Given the description of an element on the screen output the (x, y) to click on. 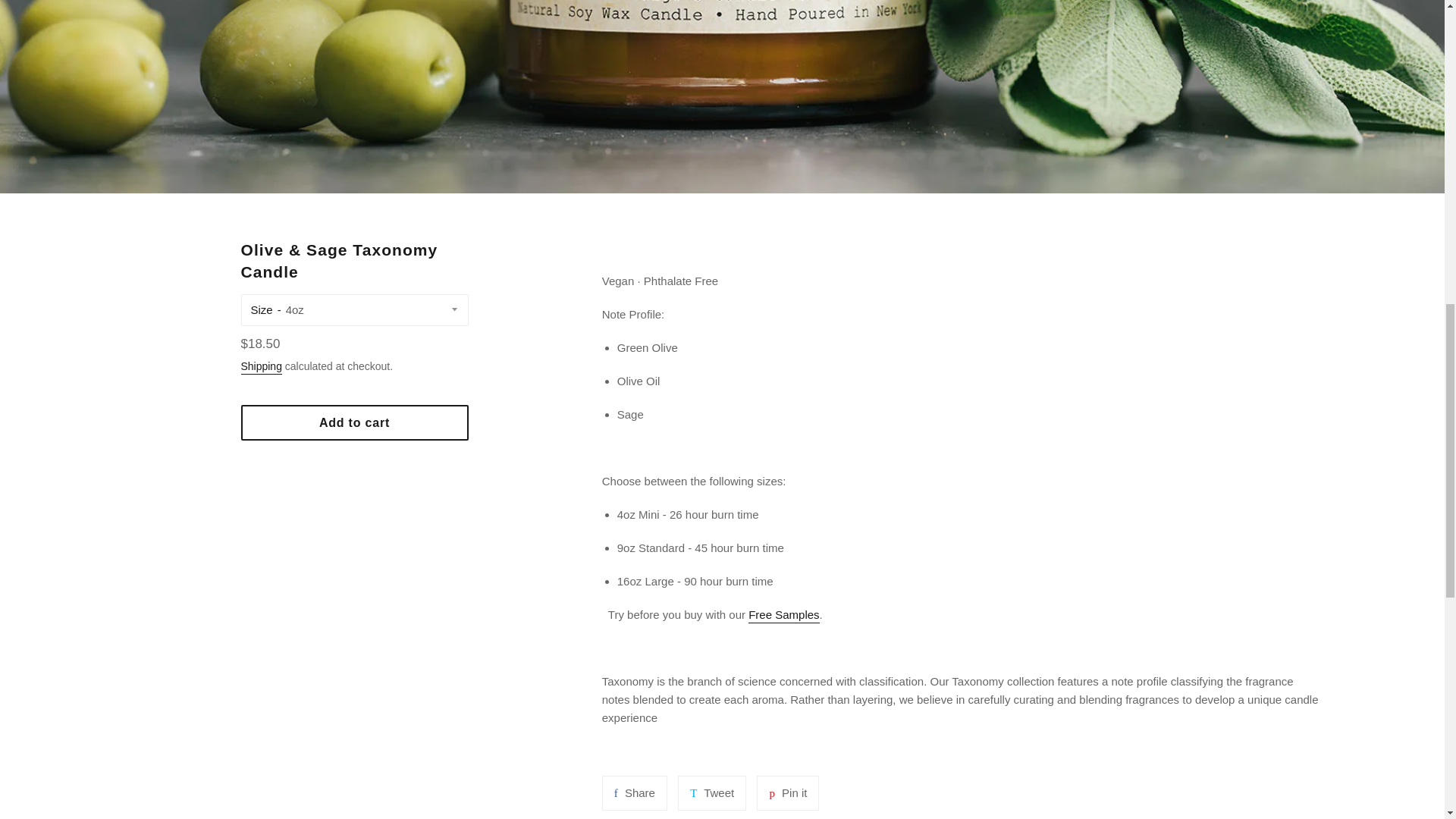
Share on Facebook (634, 792)
Add to cart (354, 422)
Pin on Pinterest (787, 792)
Shipping (261, 367)
Tweet on Twitter (787, 792)
Free Samples (711, 792)
